Given the description of an element on the screen output the (x, y) to click on. 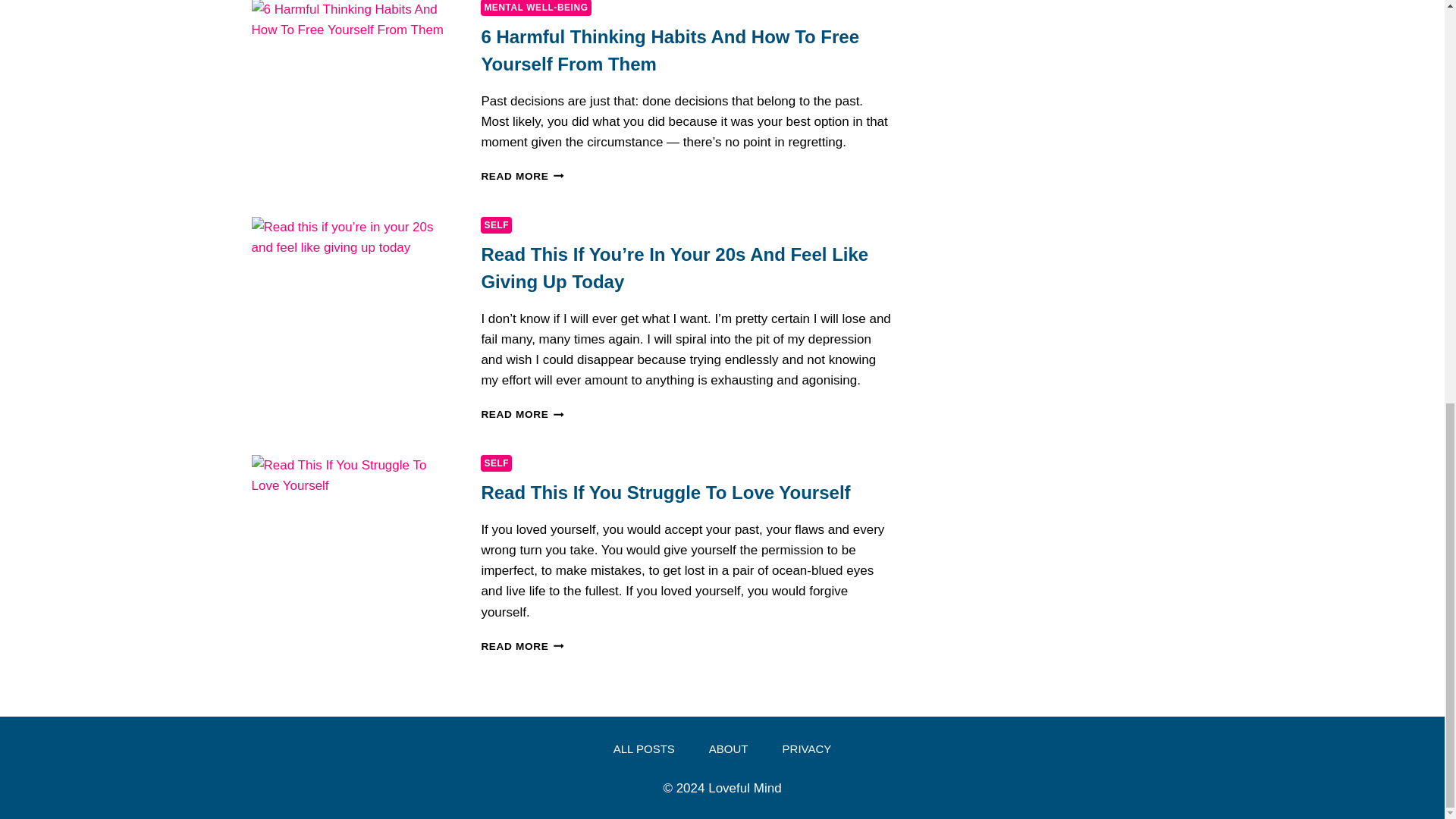
6 Harmful Thinking Habits And How To Free Yourself From Them (669, 50)
SELF (496, 463)
SELF (496, 224)
MENTAL WELL-BEING (535, 7)
